Given the description of an element on the screen output the (x, y) to click on. 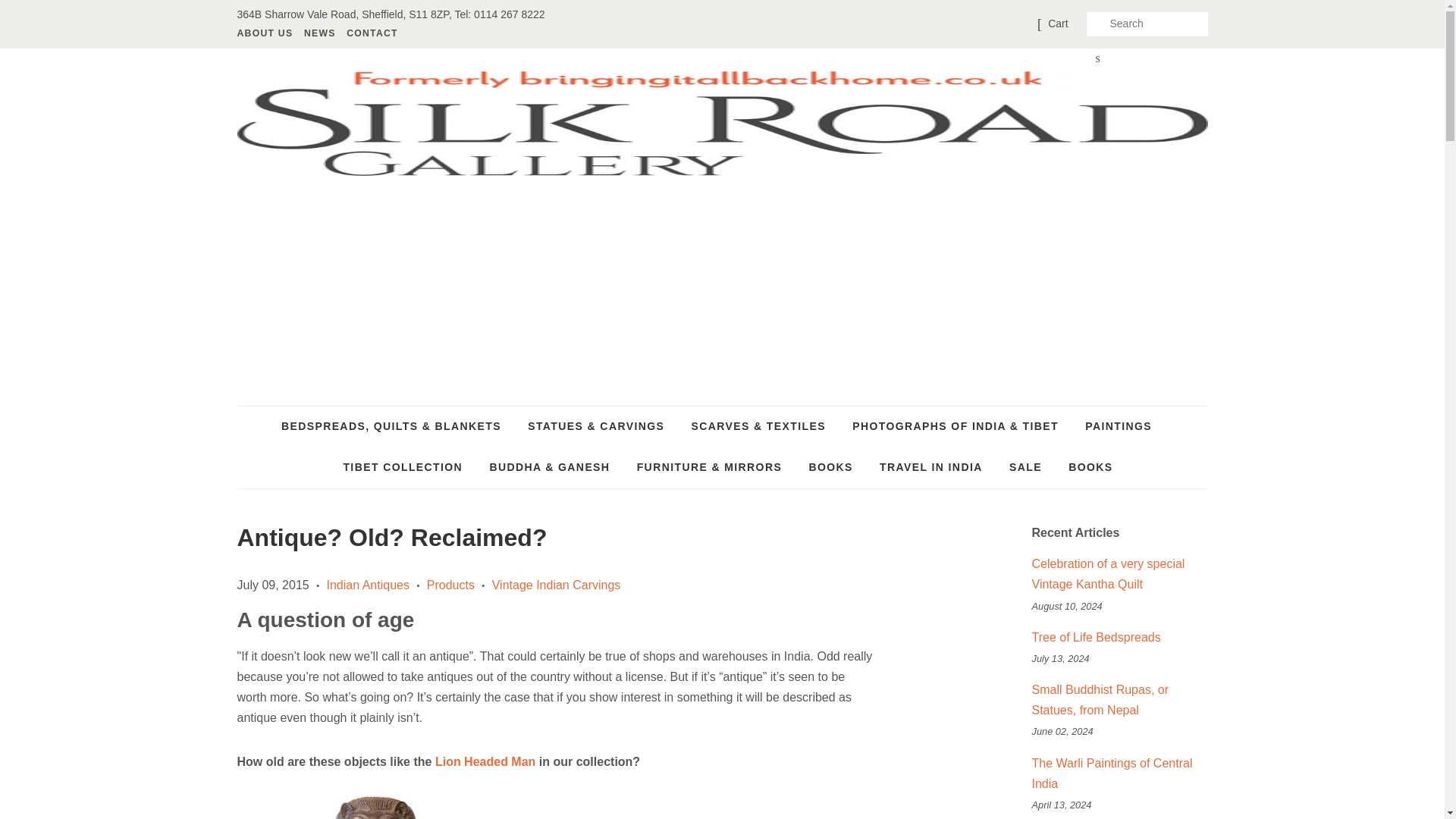
BOOKS (829, 467)
TRAVEL IN INDIA (930, 467)
Cart (1057, 24)
NEWS (319, 33)
ABOUT US (266, 33)
Indian Antiques (367, 584)
PAINTINGS (1118, 426)
BOOKS (1084, 467)
TIBET COLLECTION (402, 467)
SALE (1024, 467)
